Given the description of an element on the screen output the (x, y) to click on. 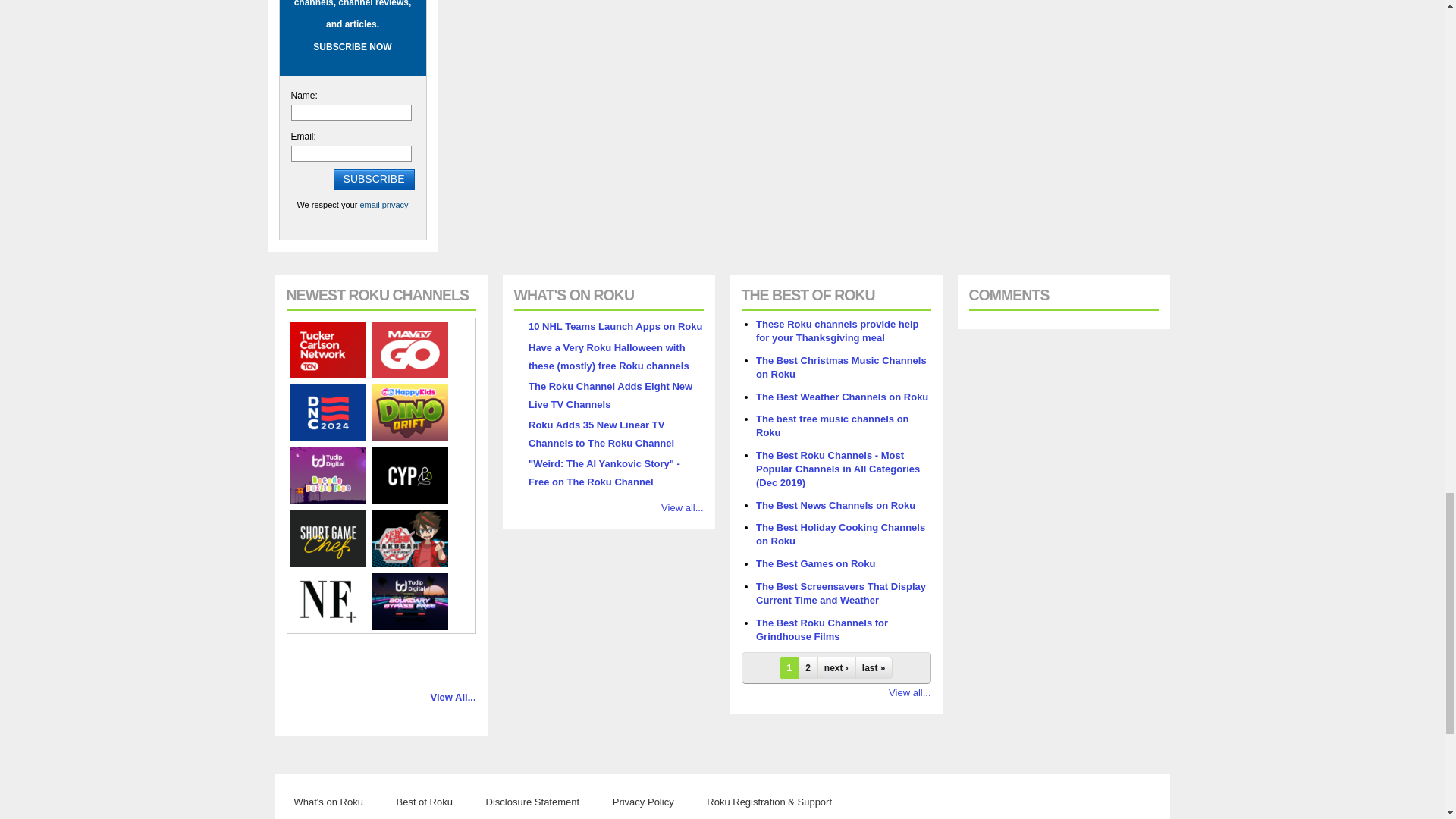
email privacy (383, 204)
Go to last page (874, 667)
Subscribe (373, 178)
Disclosure Statement (533, 802)
Privacy Policy (383, 204)
Subscribe (373, 178)
New and Awesome Content on Roku Channels (328, 802)
Go to next page (836, 667)
Privacy Policy (643, 802)
Best of Roku (424, 802)
